Given the description of an element on the screen output the (x, y) to click on. 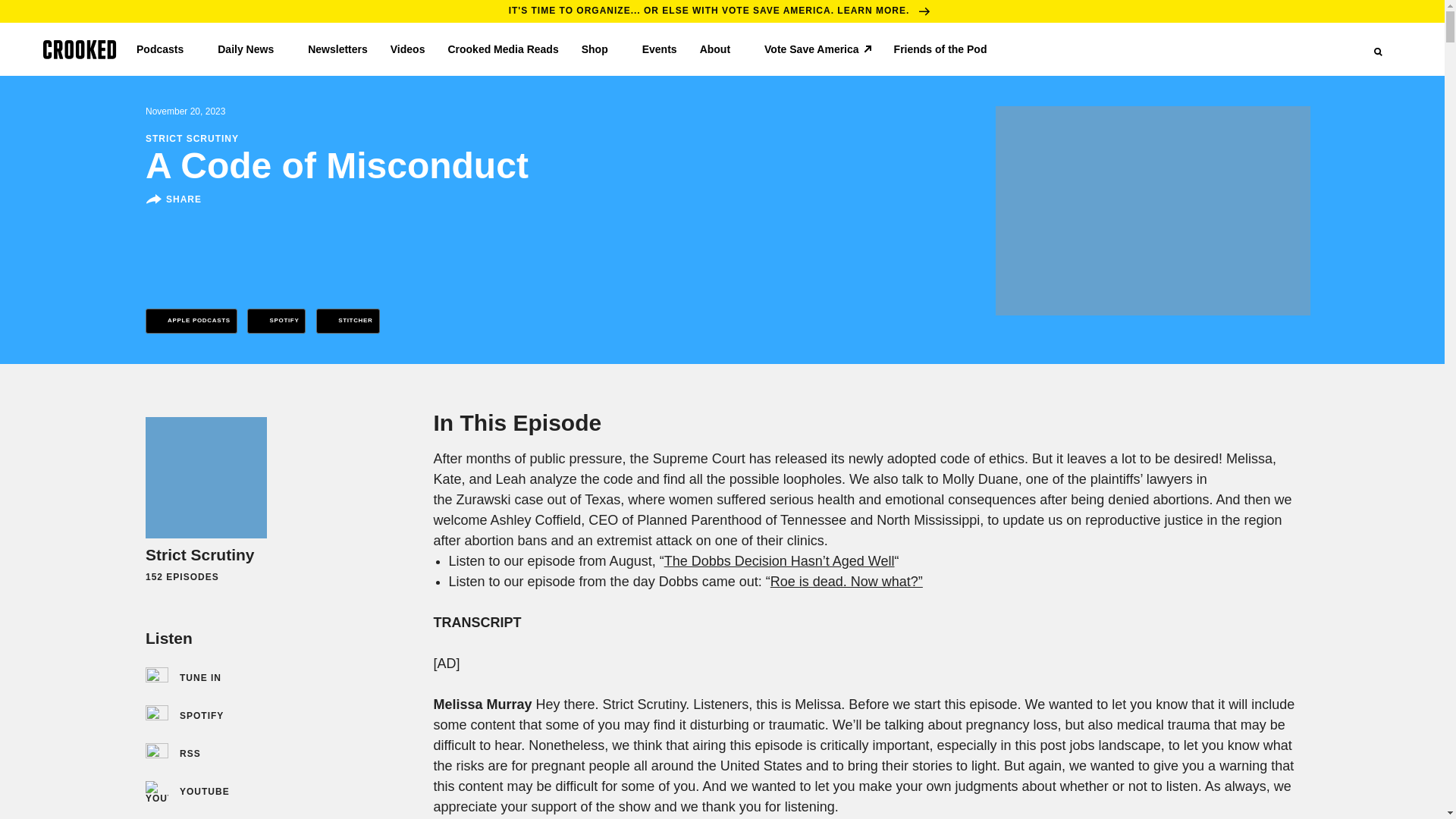
Podcasts (165, 48)
Daily News (250, 48)
Events (659, 48)
Videos (407, 48)
About (720, 48)
Vote Save America (817, 48)
Crooked Media Reads (501, 48)
Shop (600, 48)
